Given the description of an element on the screen output the (x, y) to click on. 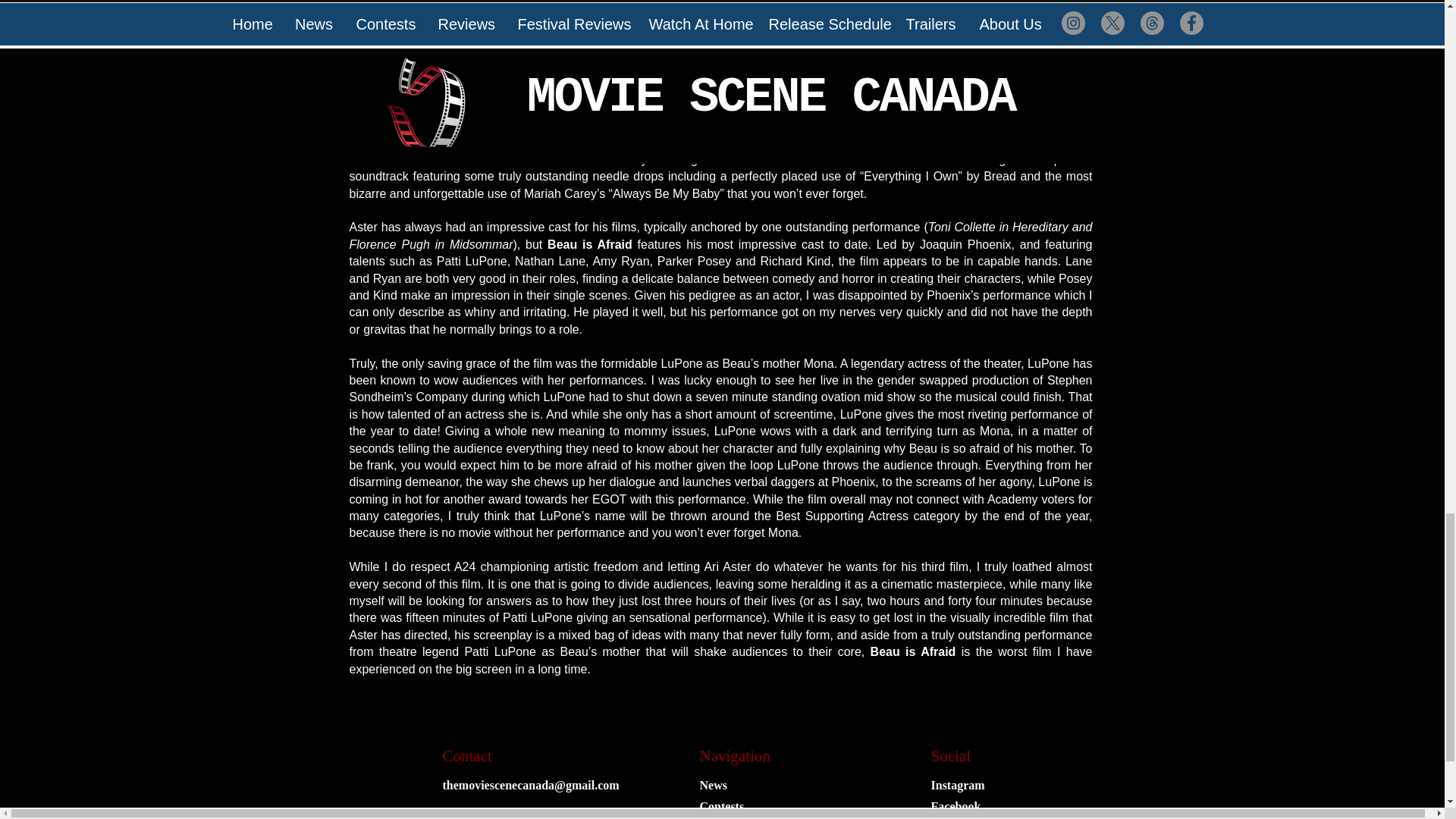
Contests (721, 806)
Instagram (958, 785)
News (712, 785)
Facebook (956, 806)
